Given the description of an element on the screen output the (x, y) to click on. 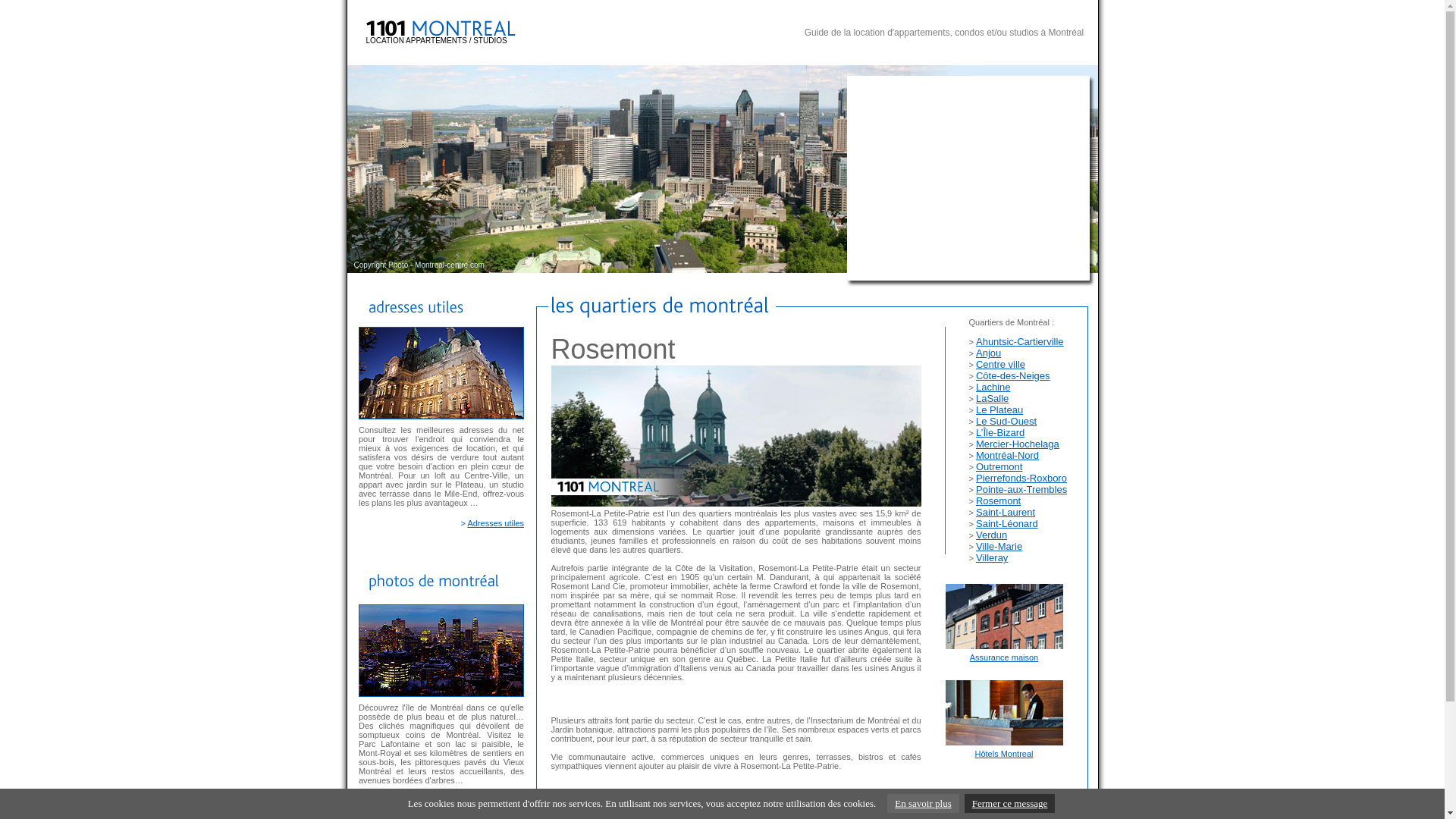
Centre ville Element type: text (1000, 364)
Villeray Element type: text (991, 557)
Saint-Laurent Element type: text (1005, 511)
Rosemont Element type: text (997, 500)
Ville-Marie Element type: text (998, 546)
Montreal-centre.com Element type: text (449, 264)
Le Sud-Ouest Element type: text (1005, 420)
Montreal Element type: text (561, 796)
Pointe-aux-Trembles Element type: text (1020, 489)
Fermer ce message Element type: text (1009, 802)
Ahuntsic-Cartierville Element type: text (1019, 341)
Rosemont Element type: hover (735, 435)
Anjou Element type: text (988, 352)
LaSalle Element type: text (991, 398)
Mercier-Hochelaga Element type: text (1017, 443)
En savoir plus Element type: text (922, 802)
Outremont Element type: text (998, 466)
Assurance maison Element type: text (1003, 656)
Lachine Element type: text (992, 386)
Le Plateau Element type: text (998, 409)
Pierrefonds-Roxboro Element type: text (1020, 477)
Verdun Element type: text (991, 534)
Adresses utiles Element type: text (495, 522)
